Given the description of an element on the screen output the (x, y) to click on. 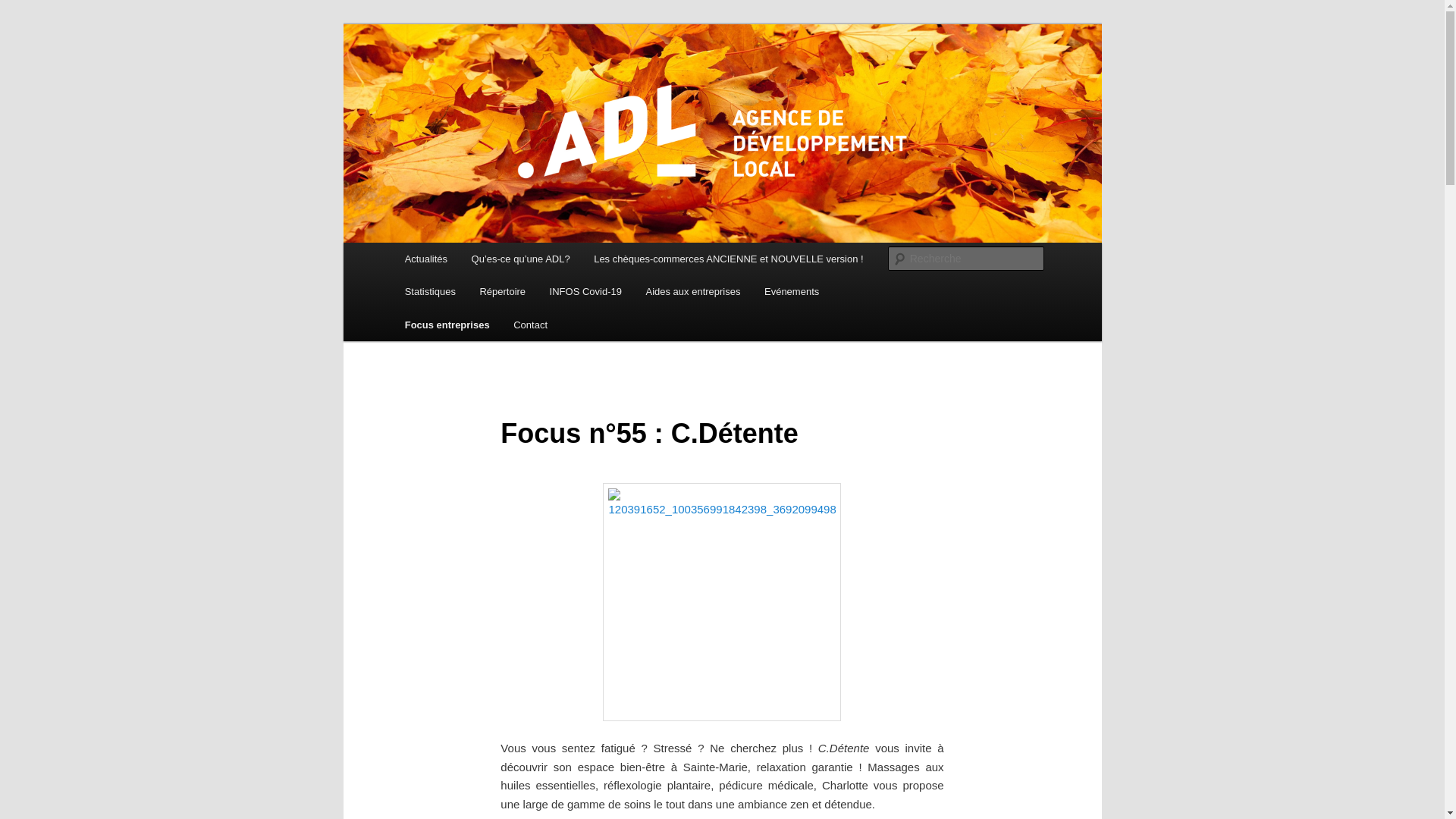
Recherche Element type: text (33, 8)
Statistiques Element type: text (429, 291)
Aides aux entreprises Element type: text (693, 291)
Aller au contenu principal Element type: text (22, 22)
INFOS Covid-19 Element type: text (585, 291)
Focus entreprises Element type: text (447, 324)
Contact Element type: text (529, 324)
ADL Etalle-Habay-Tintigny Element type: text (542, 78)
